Given the description of an element on the screen output the (x, y) to click on. 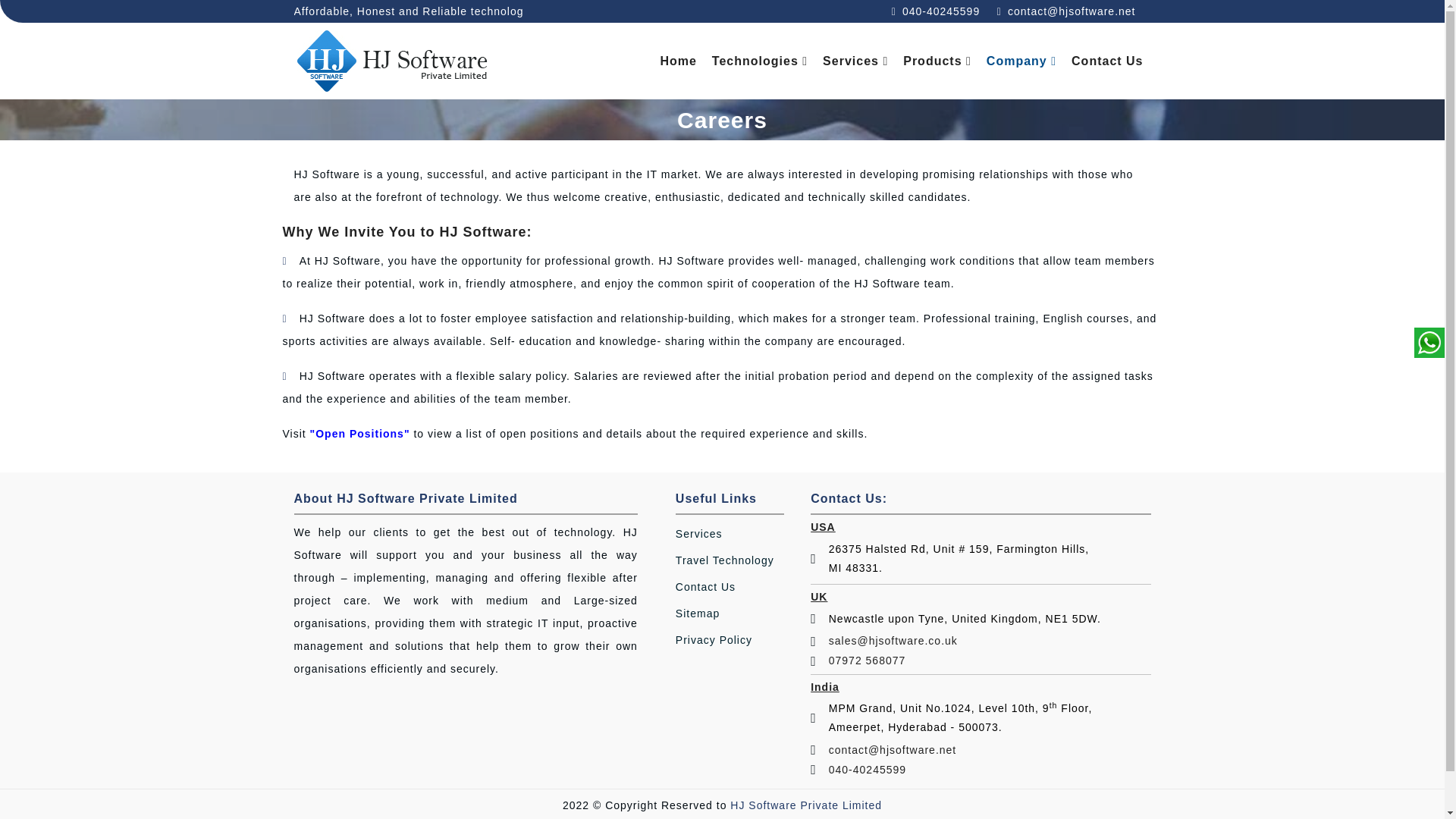
Home (677, 61)
Company (1021, 61)
Technologies (759, 61)
Products (936, 61)
Services (855, 61)
